Given the description of an element on the screen output the (x, y) to click on. 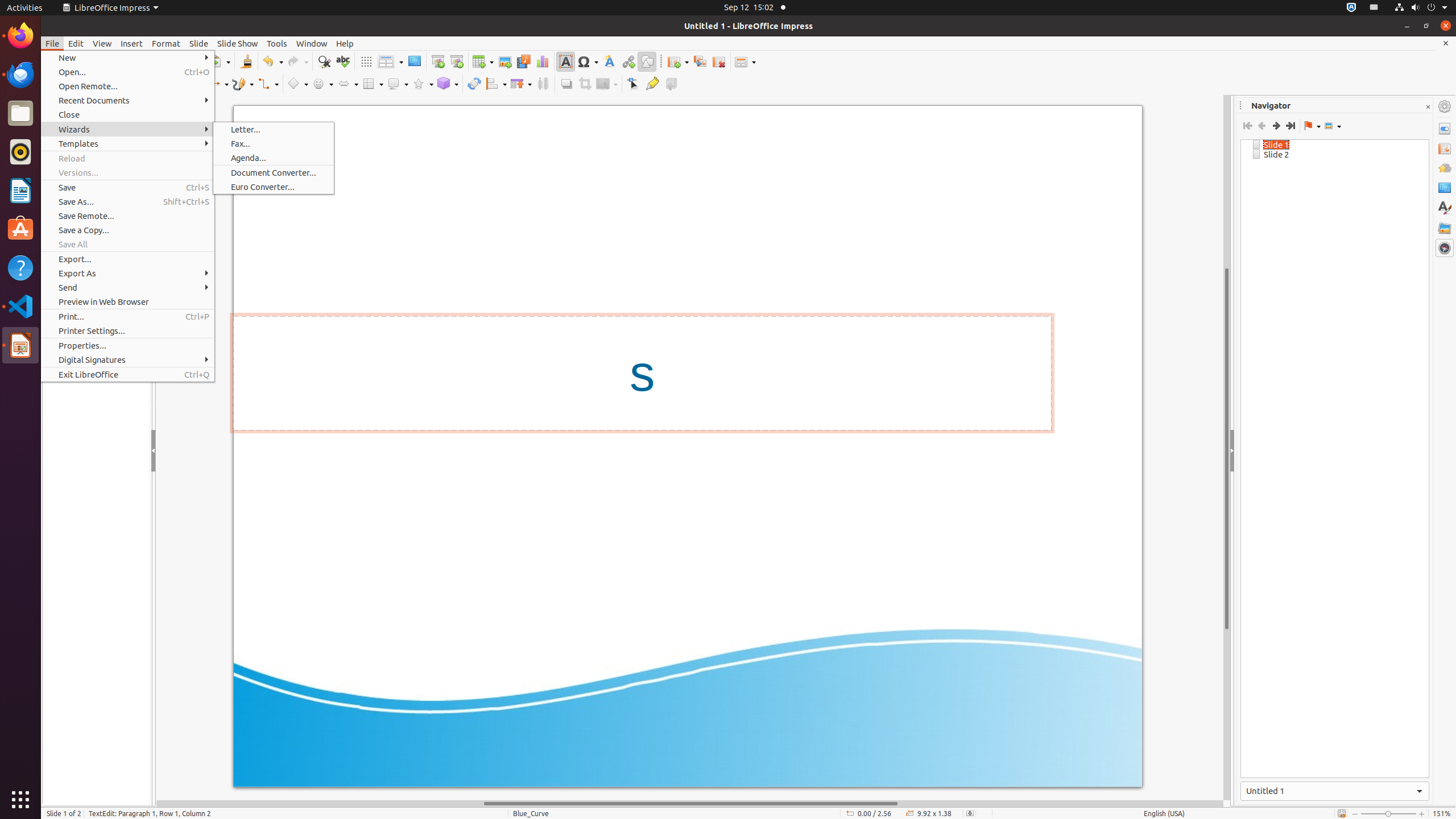
Slide Element type: menu (198, 43)
Exit LibreOffice Element type: menu-item (127, 374)
File Element type: menu (51, 43)
Styles Element type: radio-button (1444, 208)
